Given the description of an element on the screen output the (x, y) to click on. 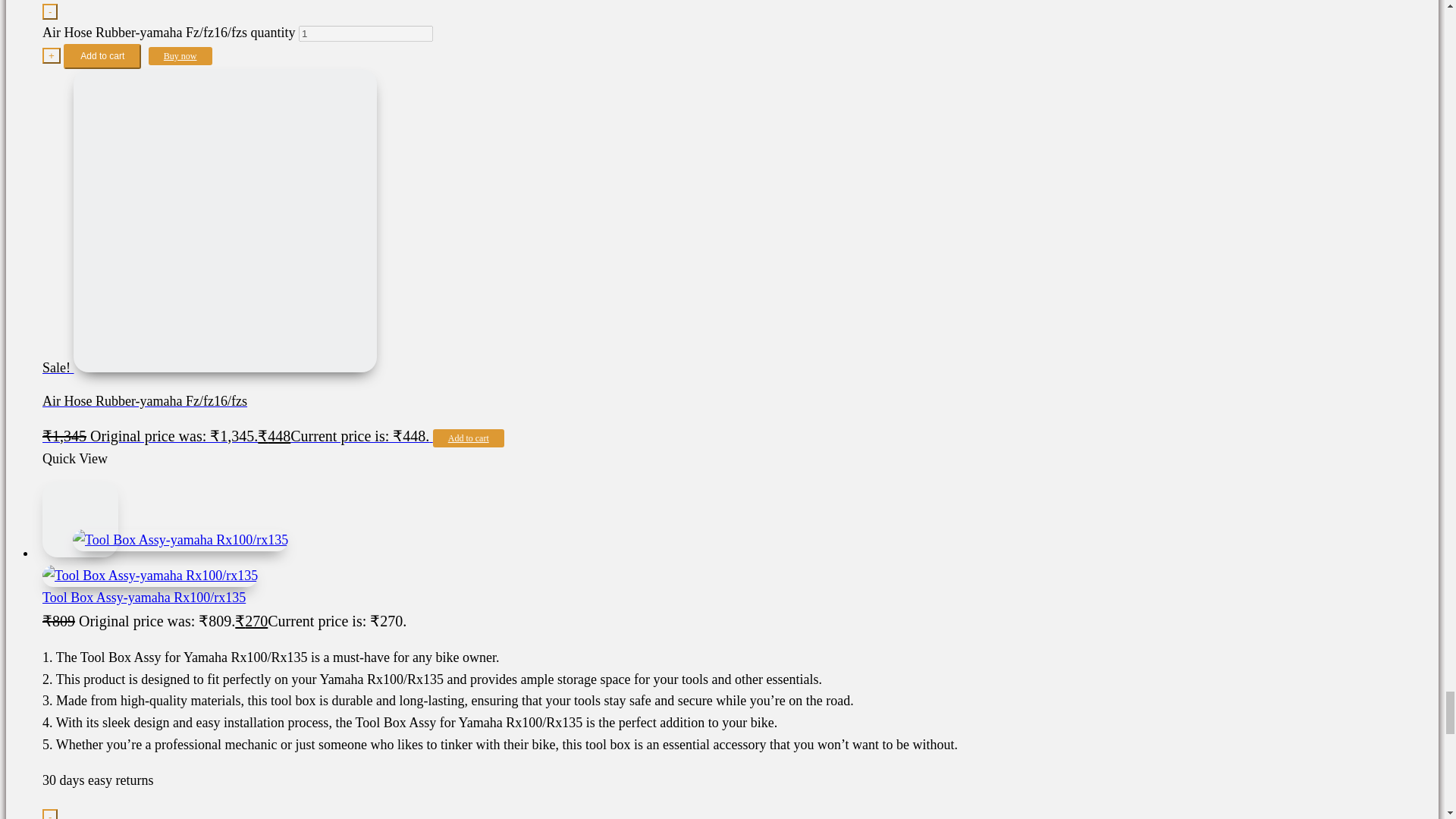
1 (365, 33)
